Given the description of an element on the screen output the (x, y) to click on. 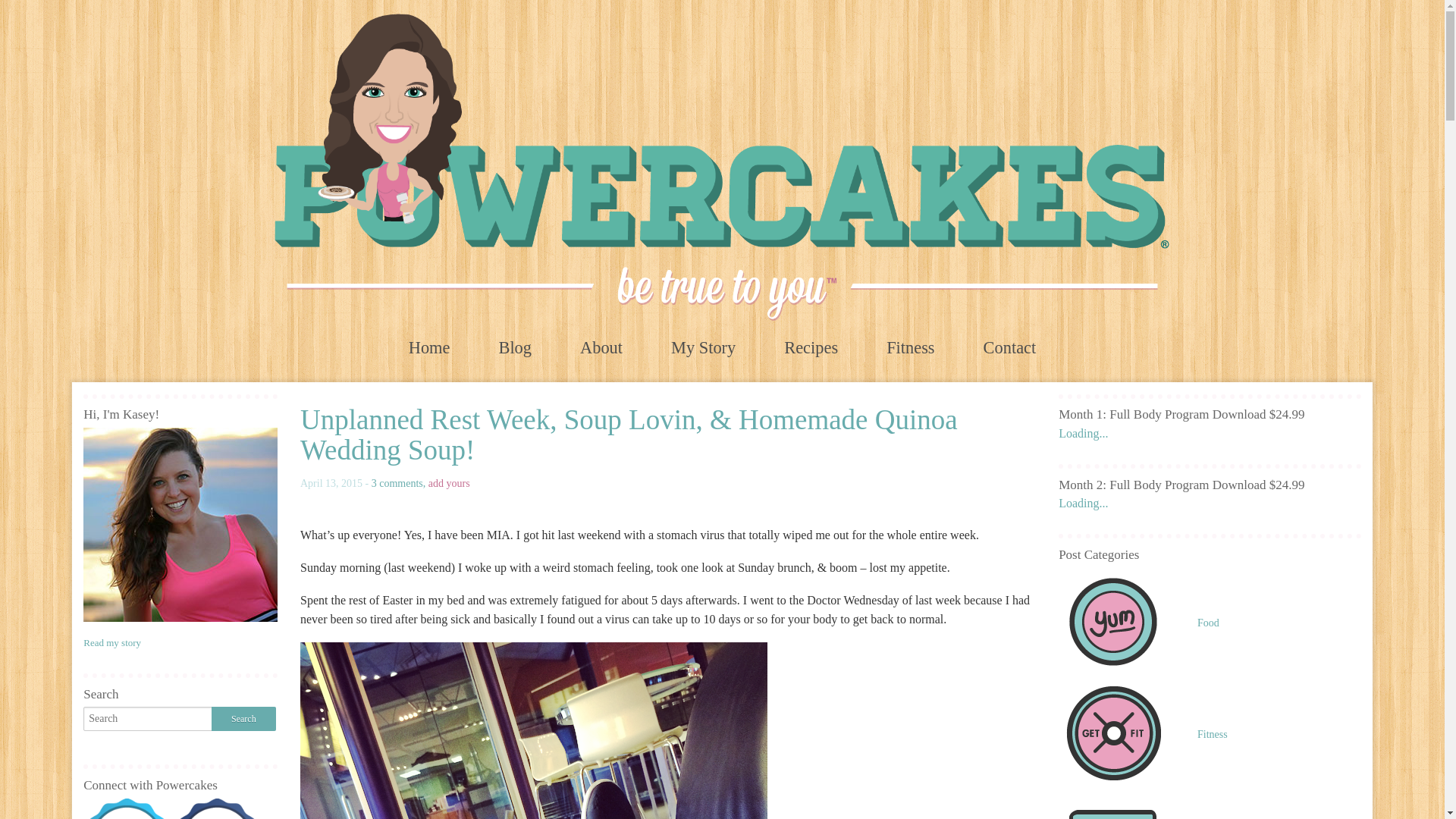
Blog (515, 347)
About (601, 347)
Home (429, 347)
add yours (449, 482)
About (601, 347)
My Story (702, 347)
Contact (1009, 347)
Search (243, 718)
Contact (1009, 347)
Fitness (909, 347)
Read my story (111, 642)
Recipes (810, 347)
Search (243, 718)
My Story (702, 347)
